Given the description of an element on the screen output the (x, y) to click on. 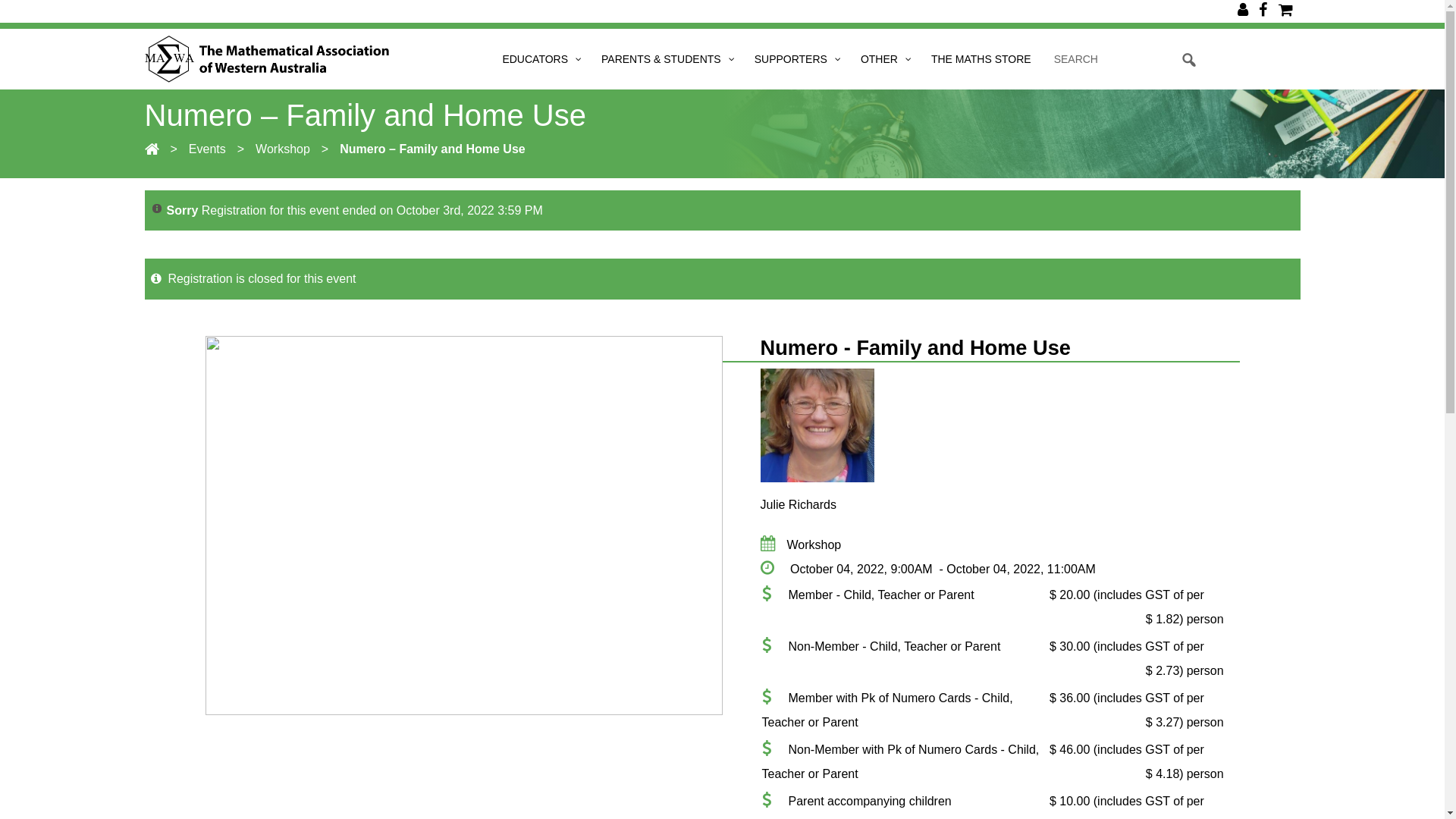
SUPPORTERS Element type: text (796, 58)
EDUCATORS Element type: text (539, 58)
PARENTS & STUDENTS Element type: text (666, 58)
OTHER Element type: text (884, 58)
Homepage Element type: hover (151, 148)
THE MATHS STORE Element type: text (980, 58)
